Given the description of an element on the screen output the (x, y) to click on. 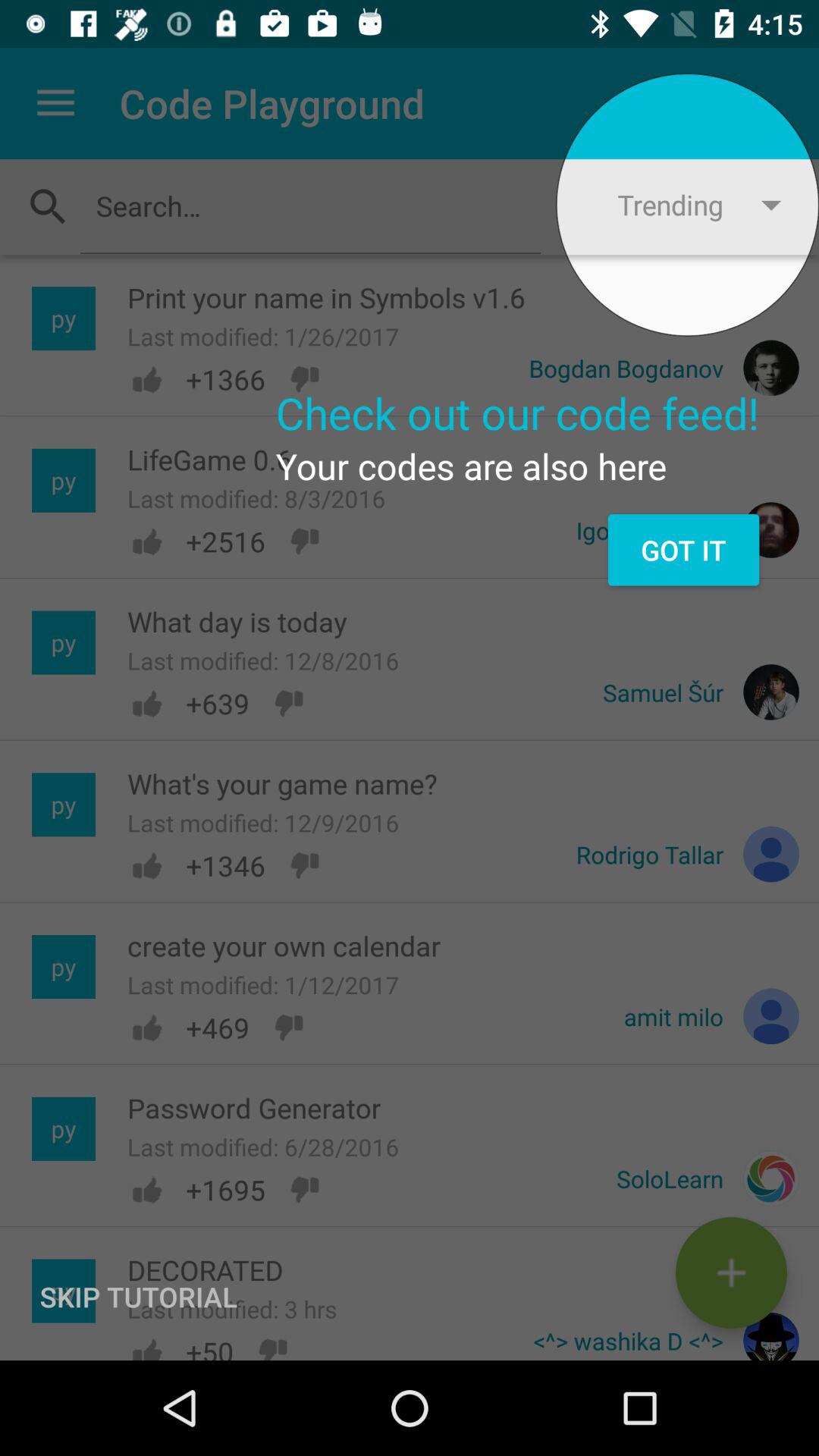
add codes (731, 1272)
